Given the description of an element on the screen output the (x, y) to click on. 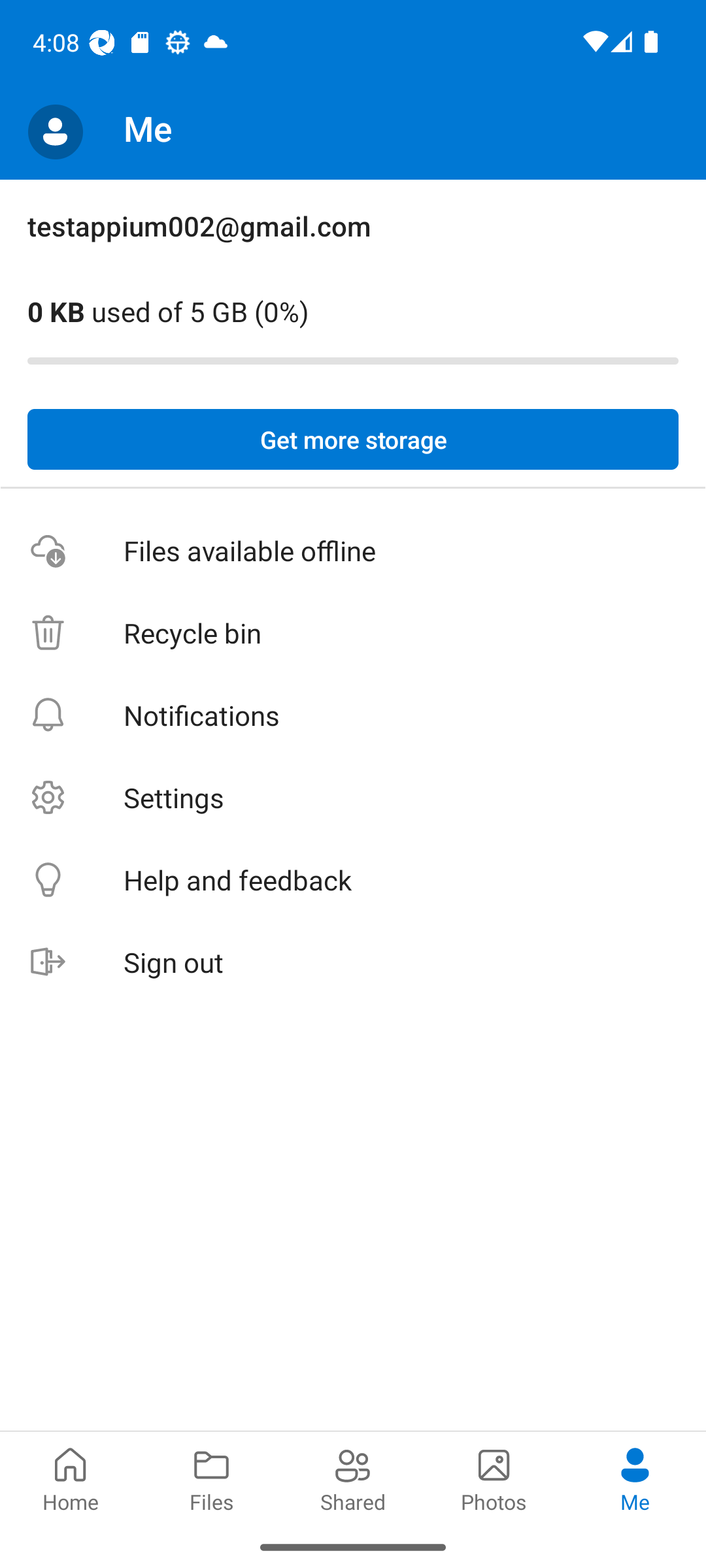
Account switcher (55, 131)
Get more storage (352, 439)
Files available offline (353, 550)
Recycle bin (353, 633)
Notifications (353, 714)
Settings (353, 796)
Help and feedback (353, 879)
Sign out (353, 962)
Home pivot Home (70, 1478)
Files pivot Files (211, 1478)
Shared pivot Shared (352, 1478)
Photos pivot Photos (493, 1478)
